Given the description of an element on the screen output the (x, y) to click on. 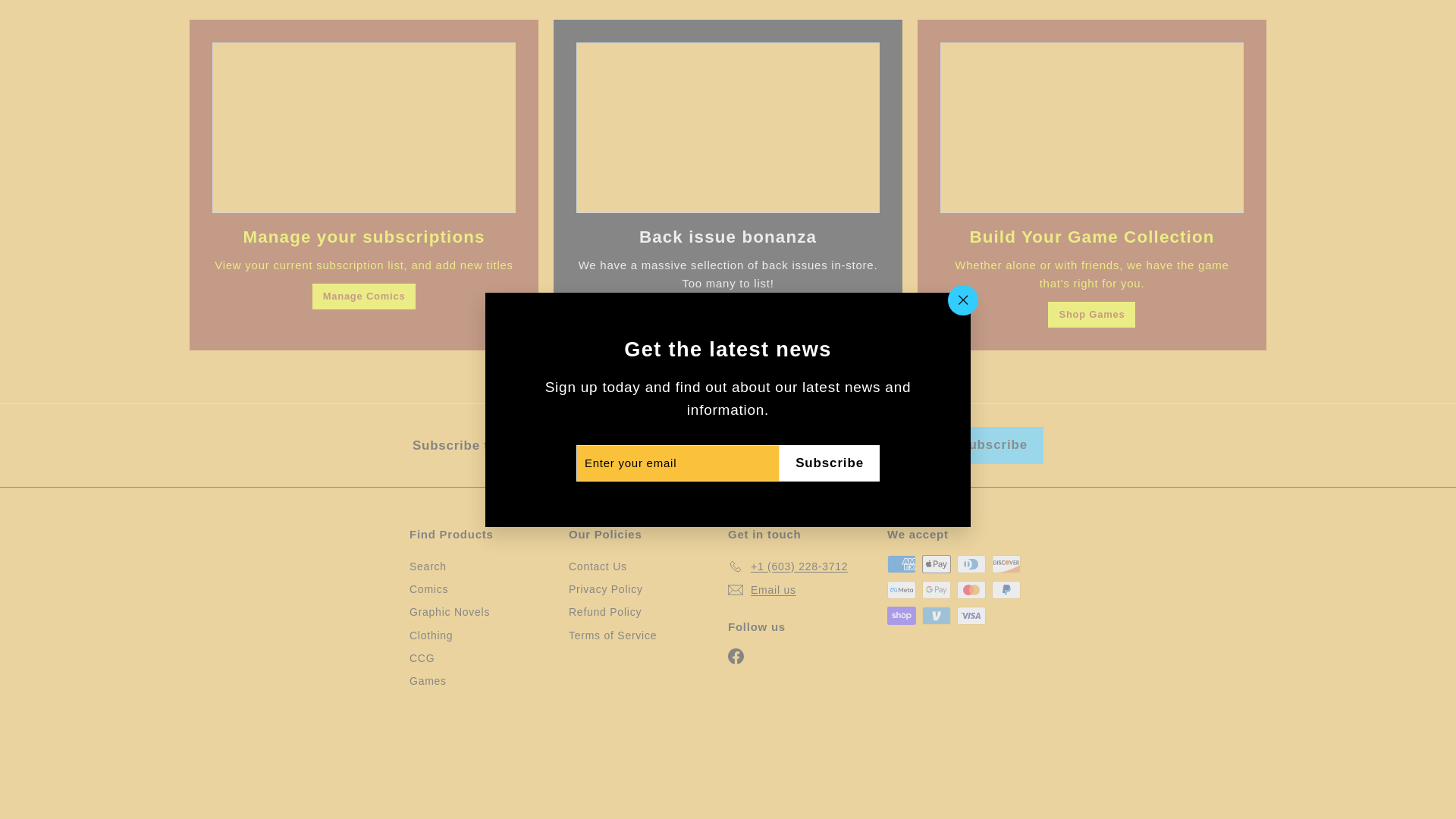
PayPal (1005, 589)
Diners Club (970, 564)
Visa (970, 615)
Apple Pay (935, 564)
Discover (1005, 564)
Venmo (935, 615)
Meta Pay (900, 589)
Mastercard (970, 589)
American Express (900, 564)
Shop Pay (900, 615)
Google Pay (935, 589)
